Given the description of an element on the screen output the (x, y) to click on. 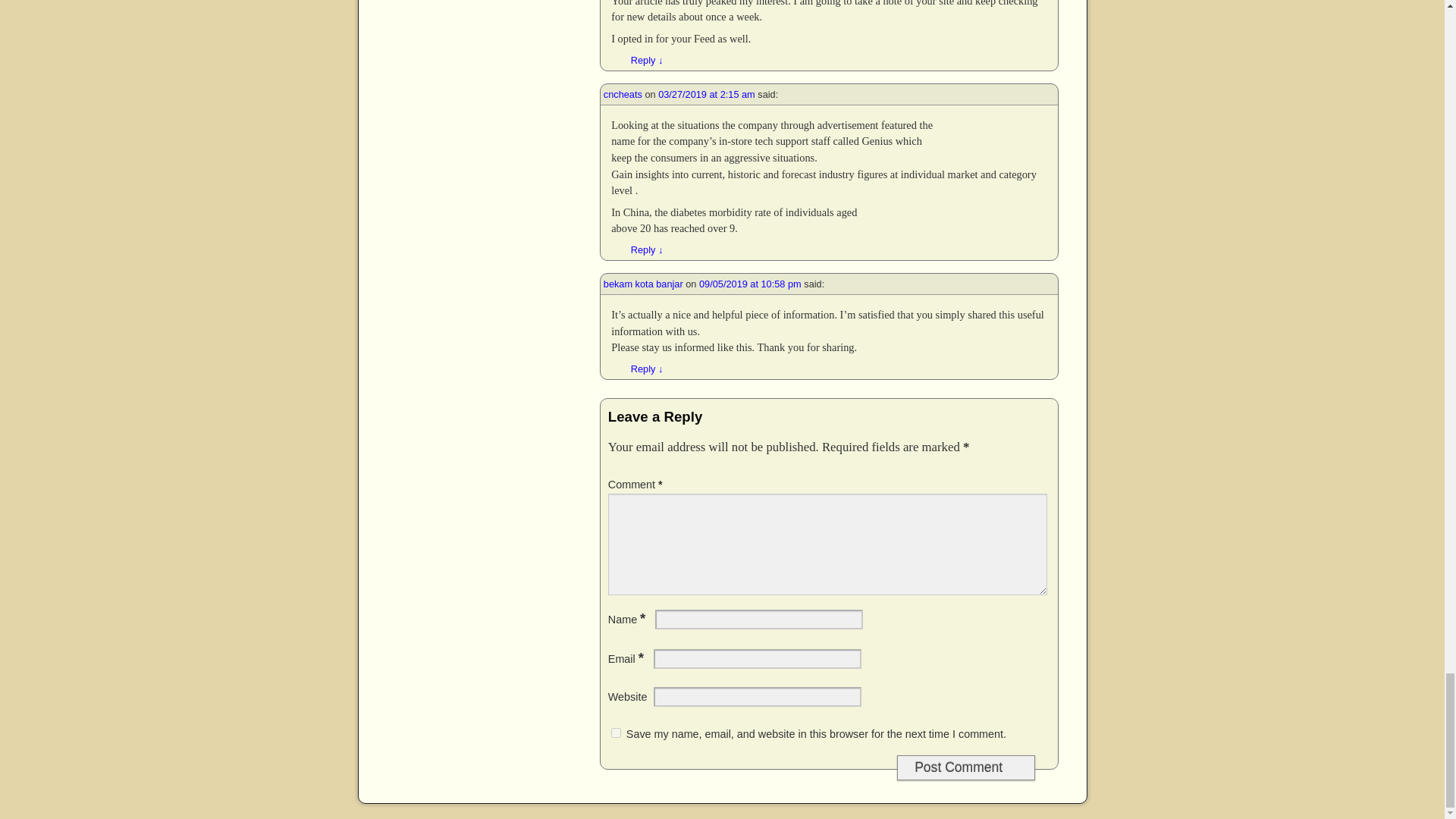
Post Comment (965, 767)
yes (616, 732)
